Given the description of an element on the screen output the (x, y) to click on. 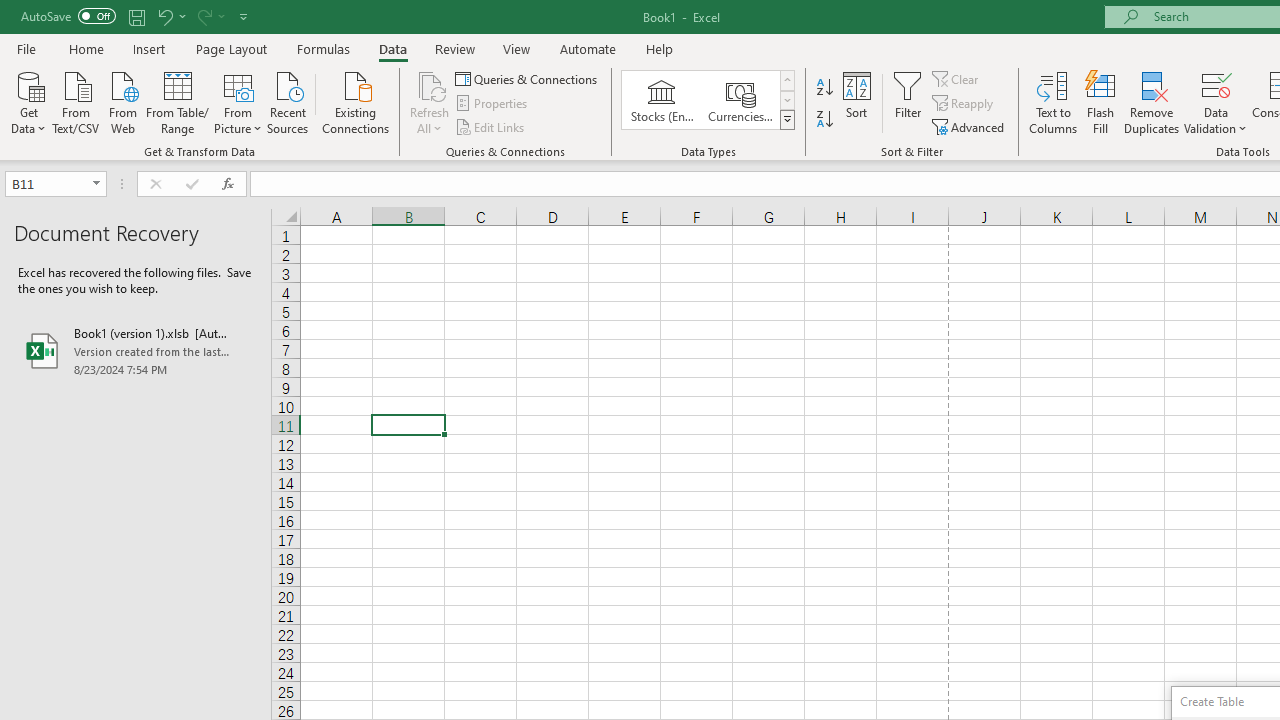
Sort A to Z (824, 87)
Currencies (English) (740, 100)
Stocks (English) (662, 100)
Filter (908, 102)
Sort... (856, 102)
Existing Connections (355, 101)
